Given the description of an element on the screen output the (x, y) to click on. 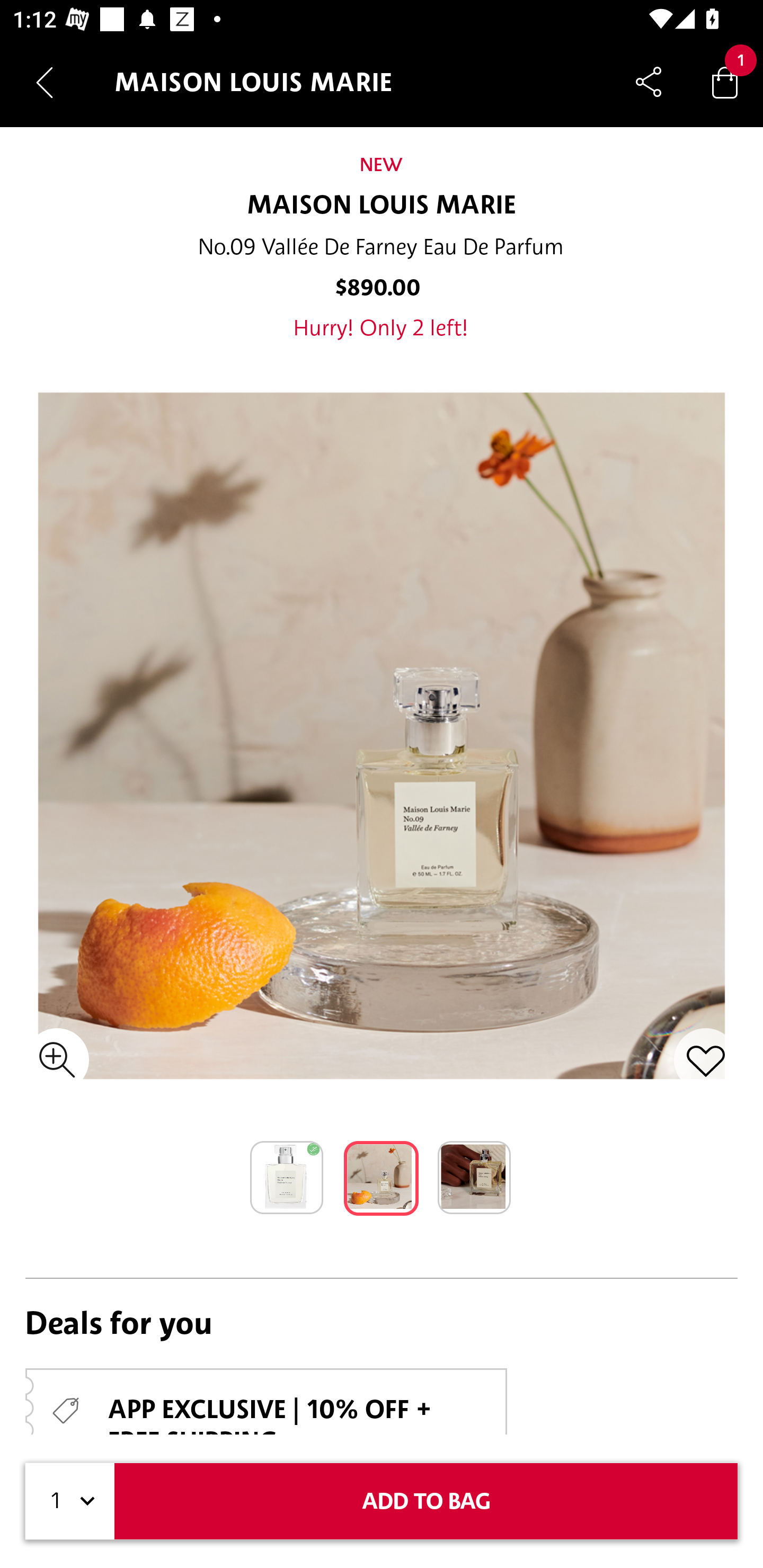
Navigate up (44, 82)
Share (648, 81)
Bag (724, 81)
MAISON LOUIS MARIE (381, 205)
1 (69, 1500)
ADD TO BAG (425, 1500)
